Given the description of an element on the screen output the (x, y) to click on. 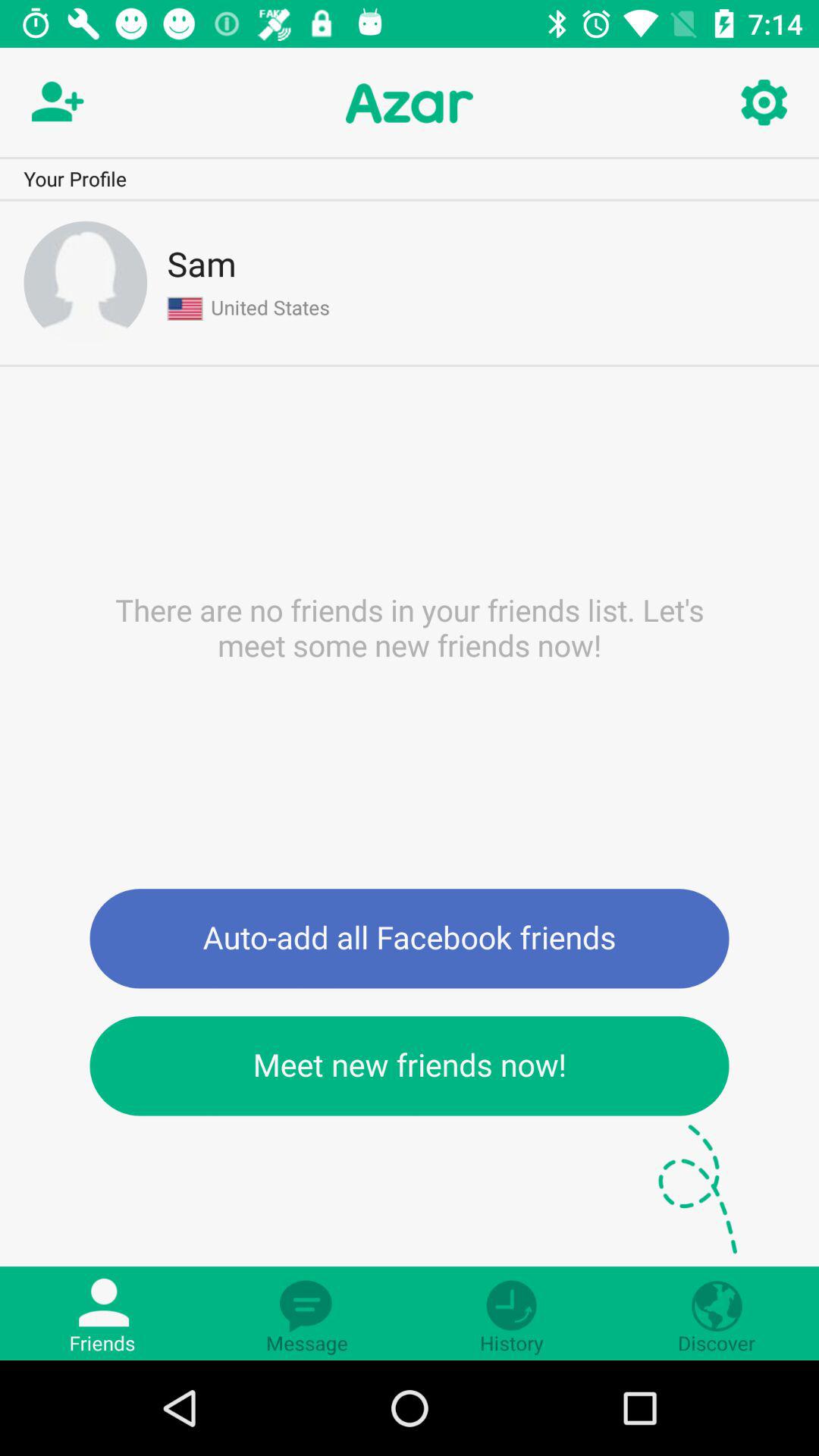
click to settings option (763, 103)
